Given the description of an element on the screen output the (x, y) to click on. 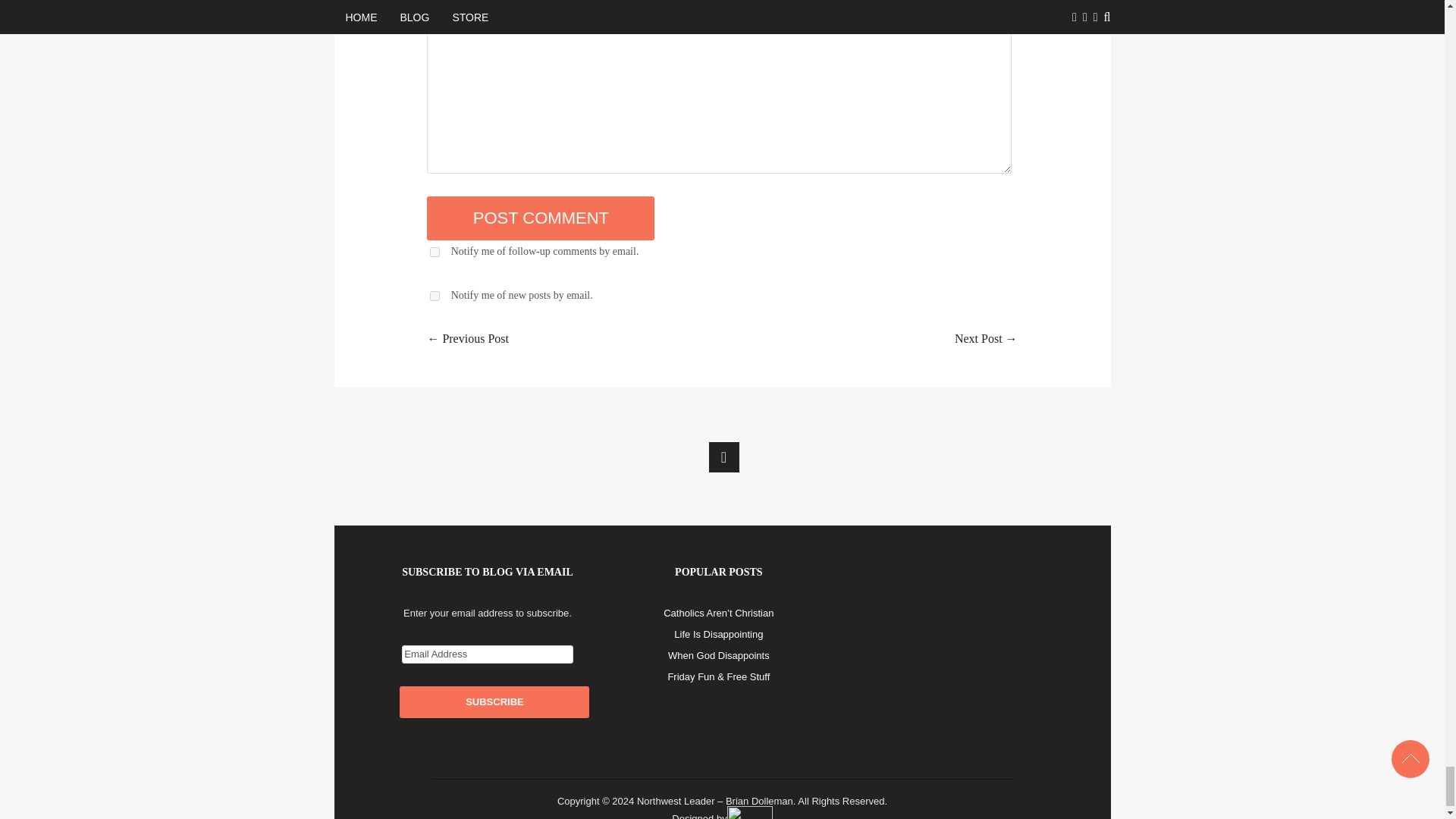
subscribe (434, 296)
Subscribe (493, 702)
Email Address (486, 654)
subscribe (434, 252)
Post Comment (539, 218)
